Given the description of an element on the screen output the (x, y) to click on. 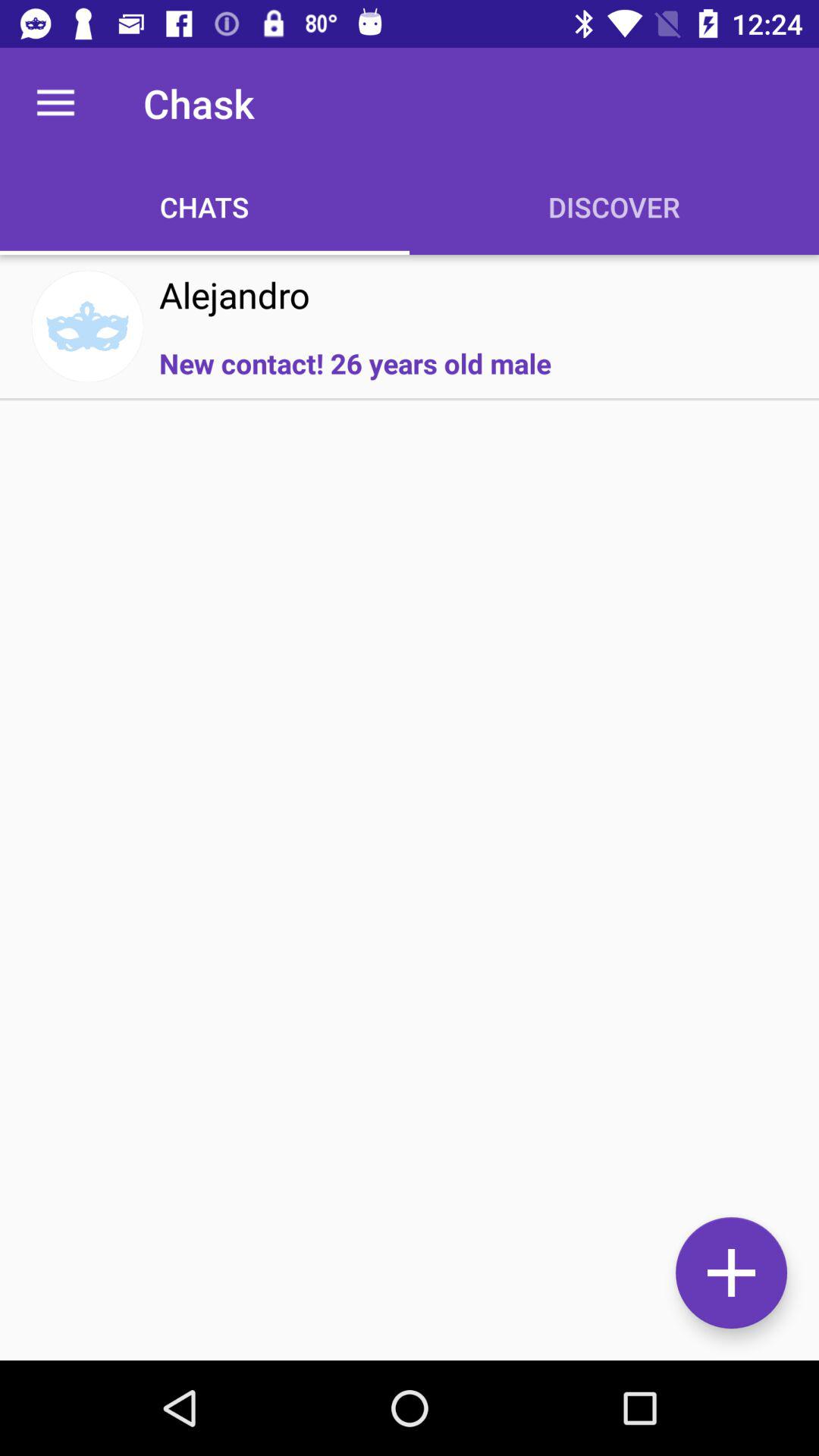
to add (731, 1272)
